Given the description of an element on the screen output the (x, y) to click on. 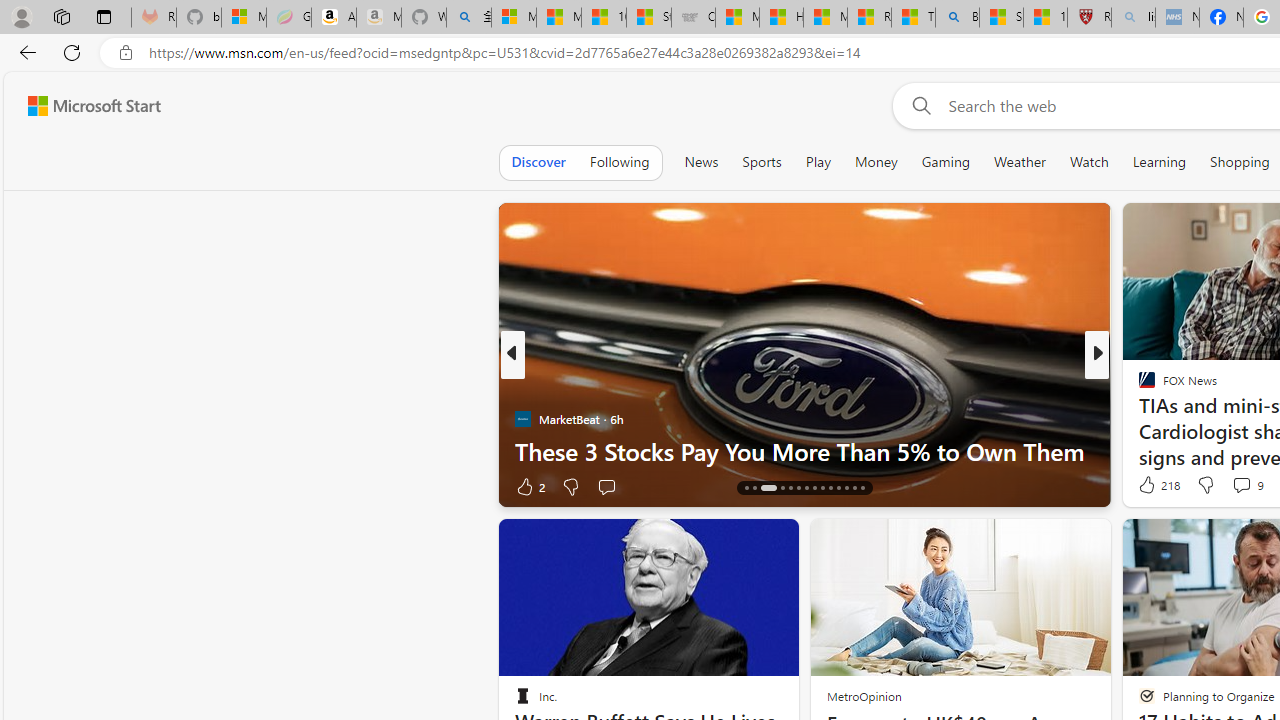
View comments 66 Comment (1244, 486)
Tasting Table (1138, 386)
Robert H. Shmerling, MD - Harvard Health (1089, 17)
Hide this story (738, 542)
The Mirror US (1138, 386)
AutomationID: tab-25 (838, 487)
AutomationID: tab-21 (806, 487)
Shopping (1240, 161)
